Given the description of an element on the screen output the (x, y) to click on. 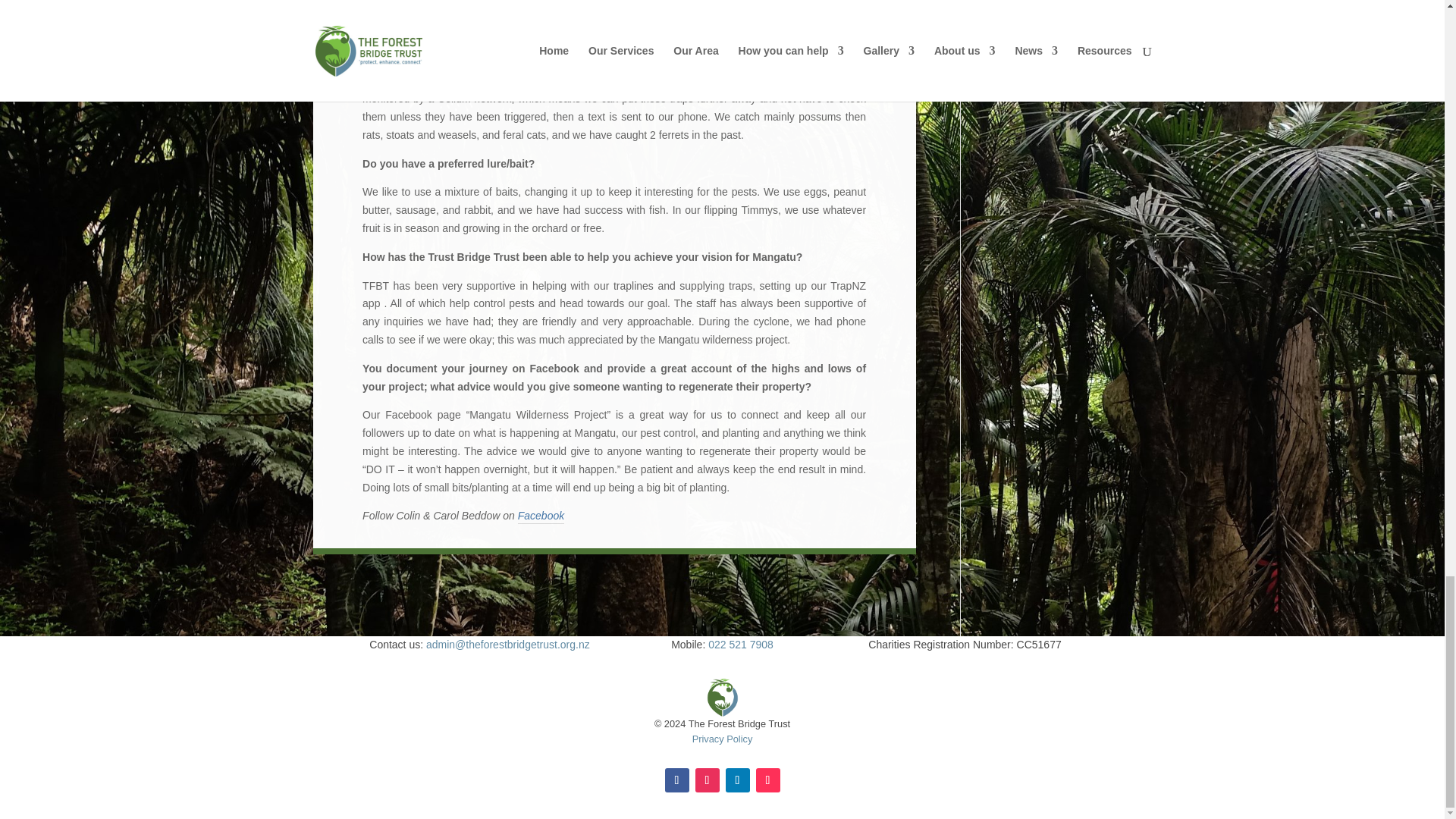
Follow on Instagram (706, 780)
Follow on LinkedIn (737, 780)
Follow on TikTok (766, 780)
Follow on Facebook (675, 780)
